Given the description of an element on the screen output the (x, y) to click on. 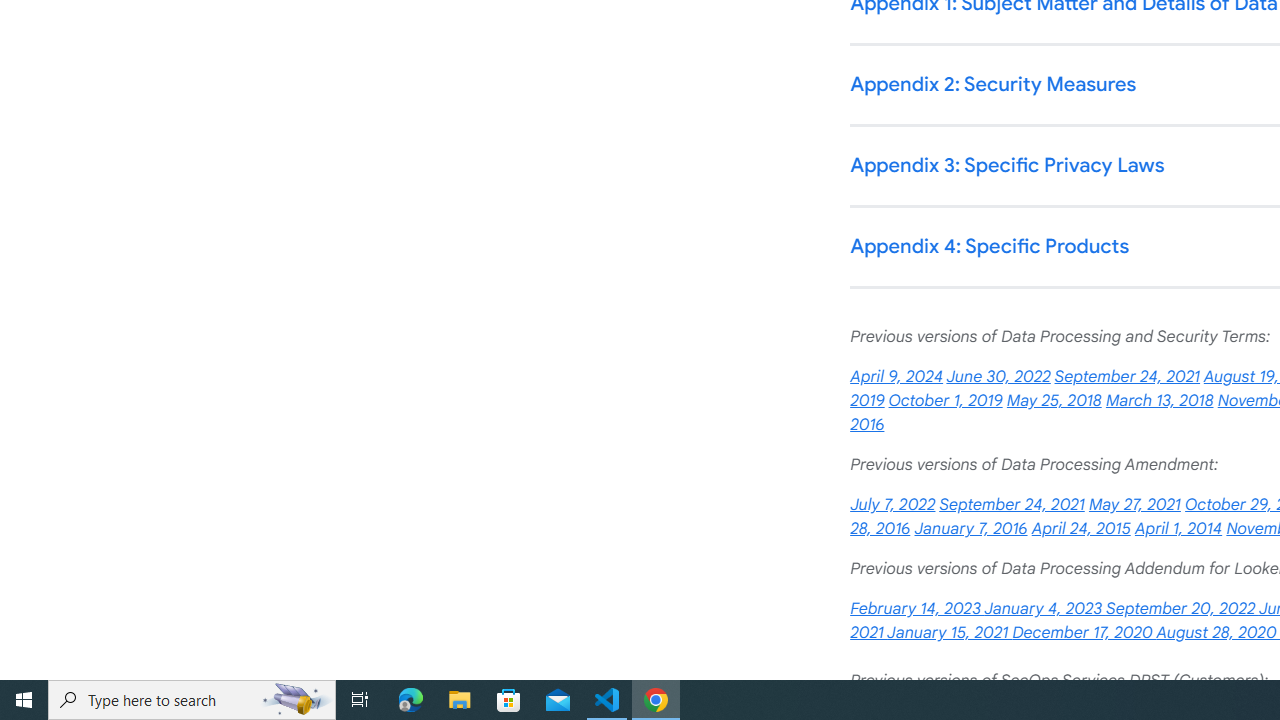
January 7, 2016 (970, 529)
June 30, 2022 (997, 377)
March 13, 2018 (1158, 400)
October 1, 2019 (945, 400)
April 24, 2015 (1080, 529)
April 9, 2024 (896, 377)
September 24, 2021 (1012, 504)
July 7, 2022 (892, 504)
May 25, 2018 (1054, 400)
April 1, 2014 (1178, 529)
